Given the description of an element on the screen output the (x, y) to click on. 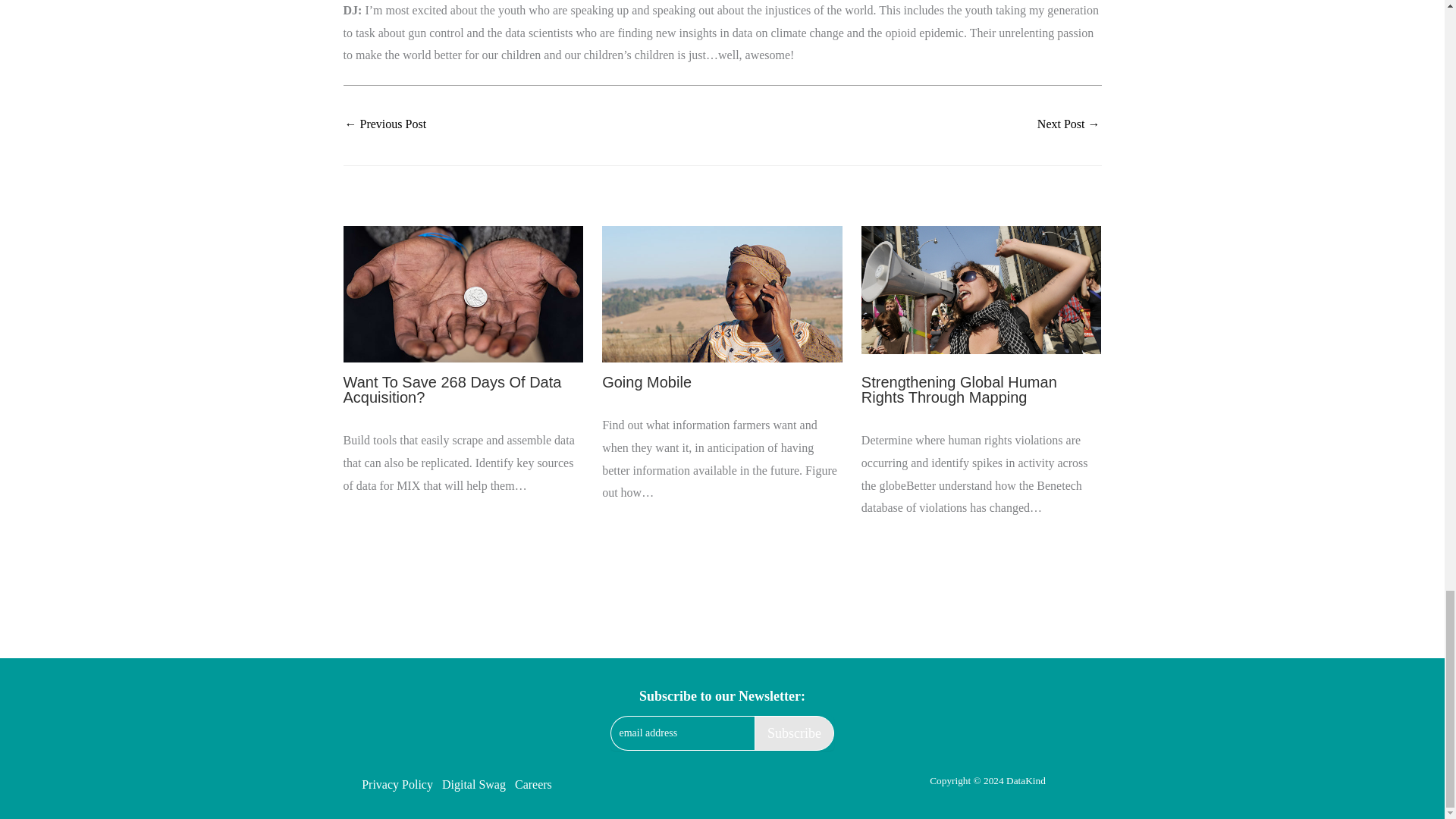
Recap of our June NY DataDive (384, 125)
2 Minutes With Elizabeth Christopherson (1068, 125)
